Given the description of an element on the screen output the (x, y) to click on. 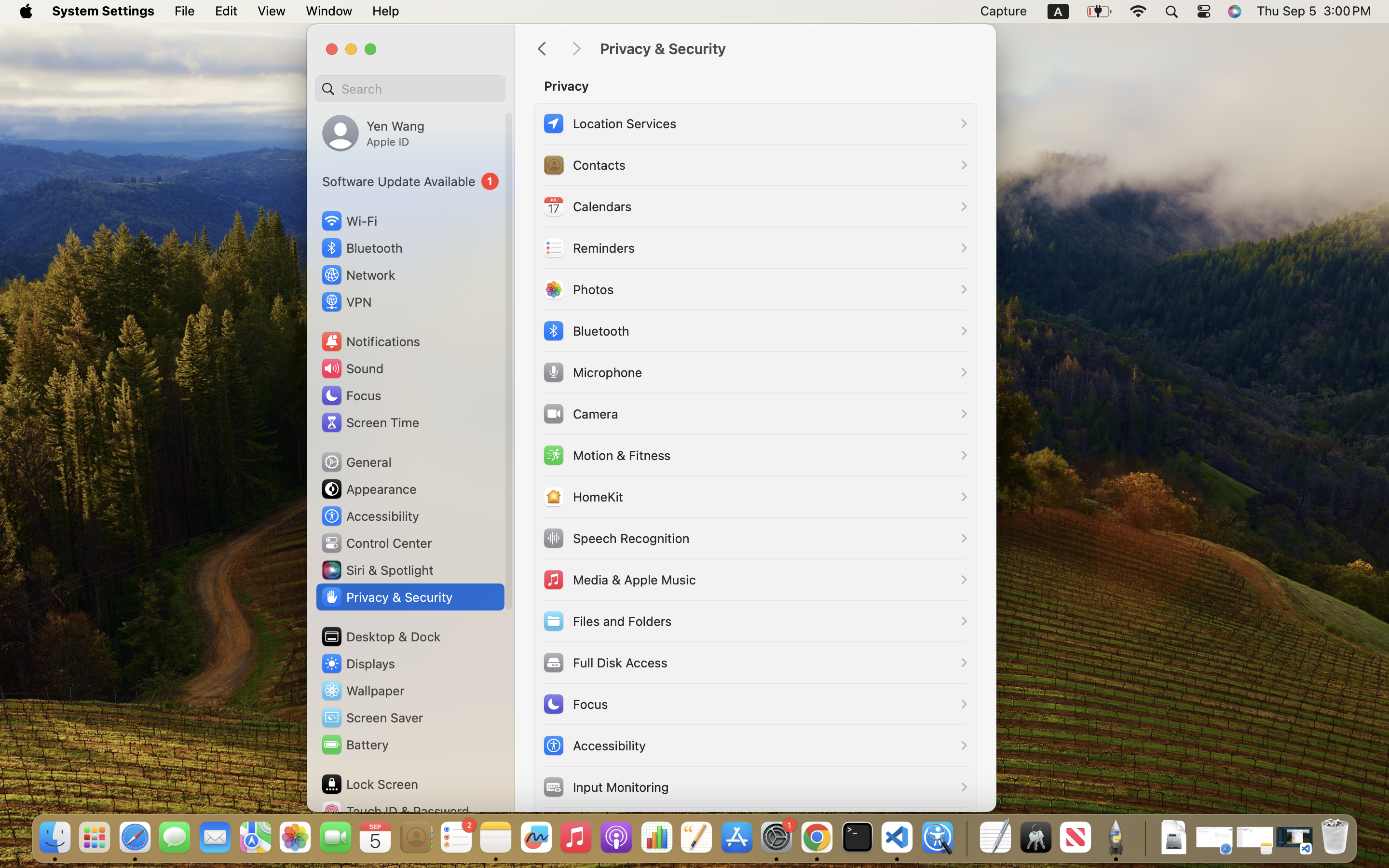
Screen Time Element type: AXStaticText (369, 422)
Appearance Element type: AXStaticText (368, 488)
Battery Element type: AXStaticText (354, 744)
Wi‑Fi Element type: AXStaticText (348, 220)
